Given the description of an element on the screen output the (x, y) to click on. 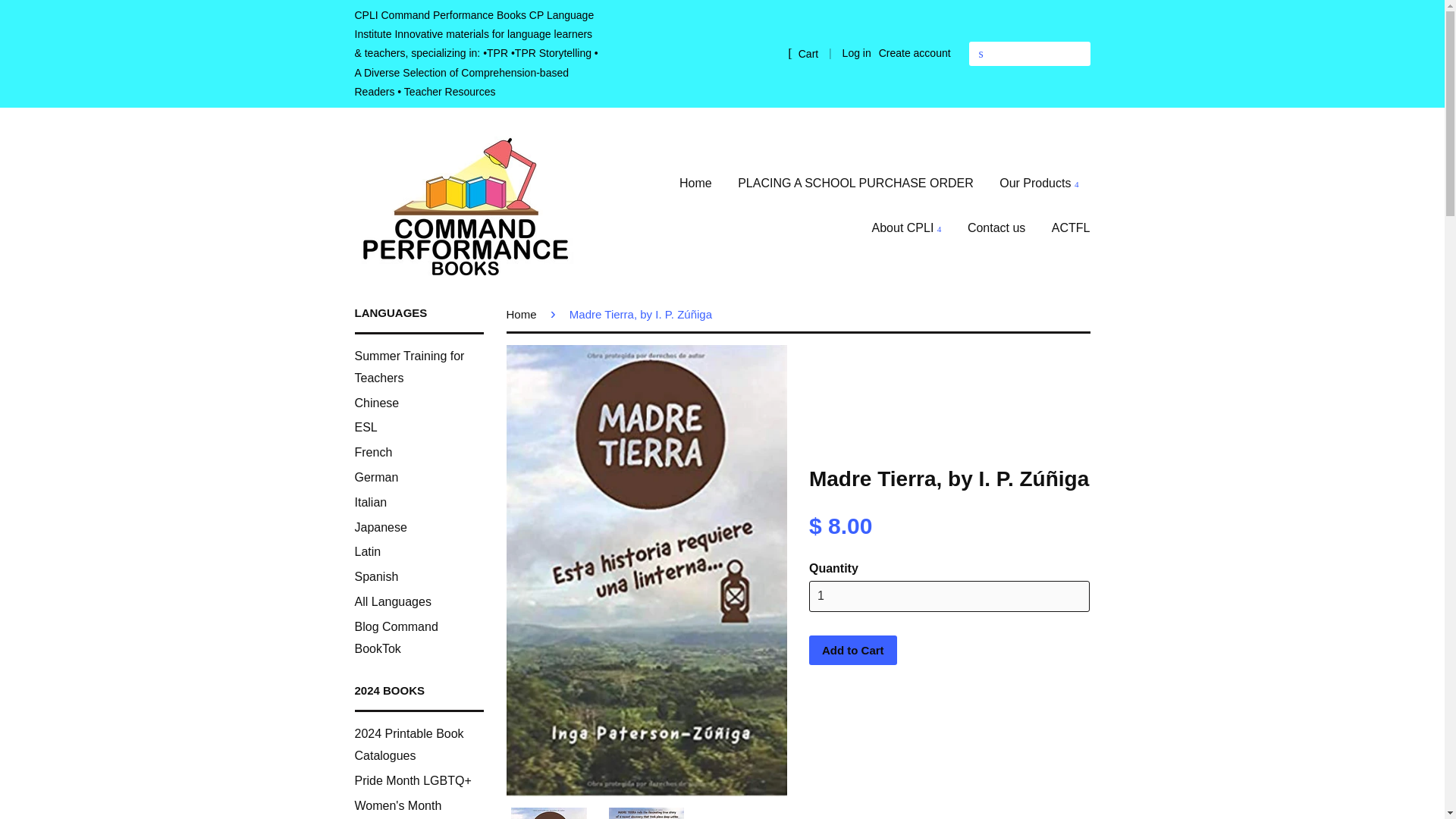
Log in (856, 52)
Cart (802, 53)
Create account (914, 52)
1 (949, 595)
Back to the frontpage (523, 314)
Search (980, 53)
